Given the description of an element on the screen output the (x, y) to click on. 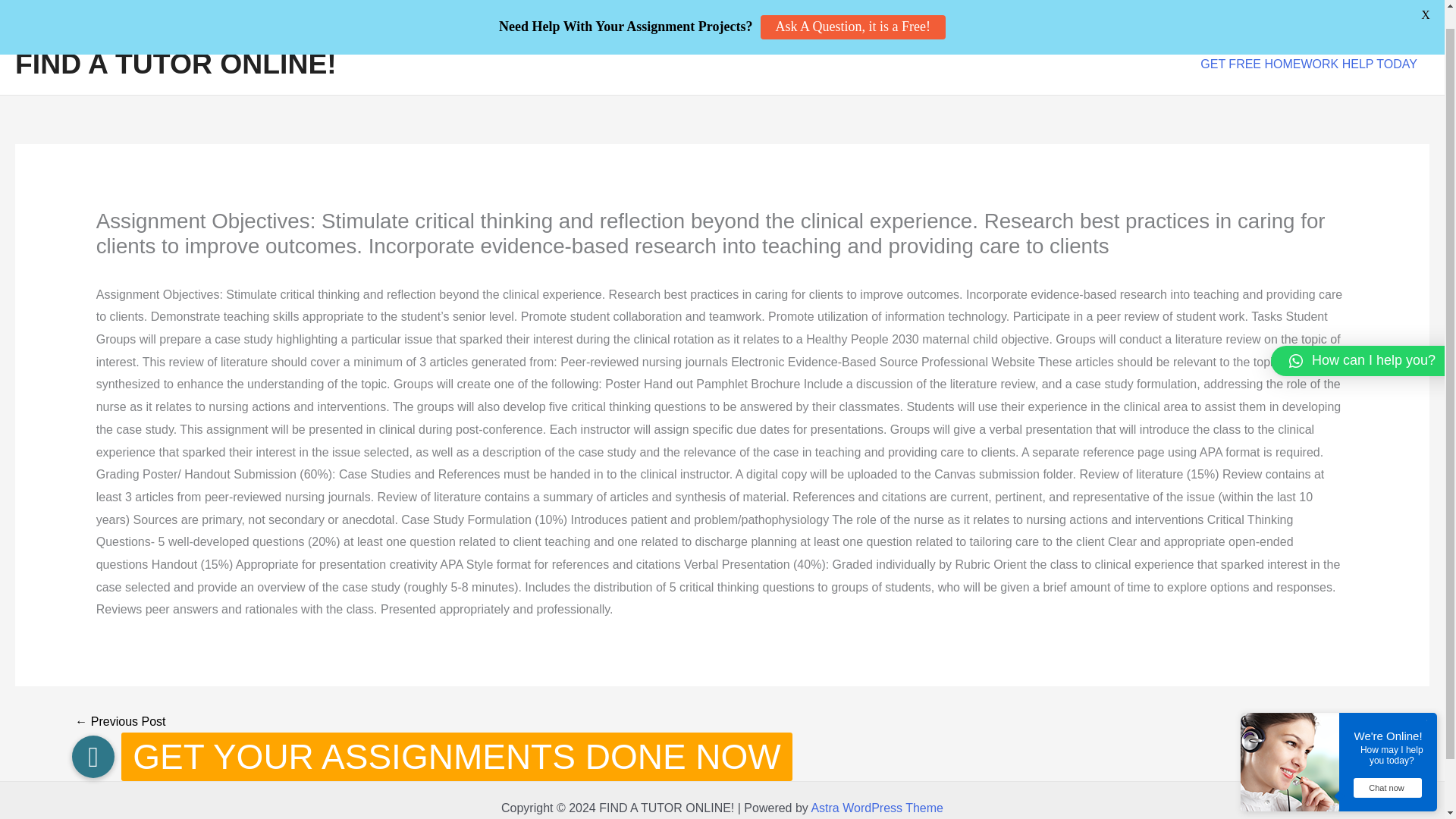
How may I help you today? (1391, 734)
GET FREE HOMEWORK HELP TODAY (1308, 64)
We're Online! (1391, 715)
FIND A TUTOR ONLINE! (175, 63)
Ask A Question, it is a Free! (852, 9)
GET YOUR ASSIGNMENTS DONE NOW (93, 735)
Astra WordPress Theme (876, 807)
